Given the description of an element on the screen output the (x, y) to click on. 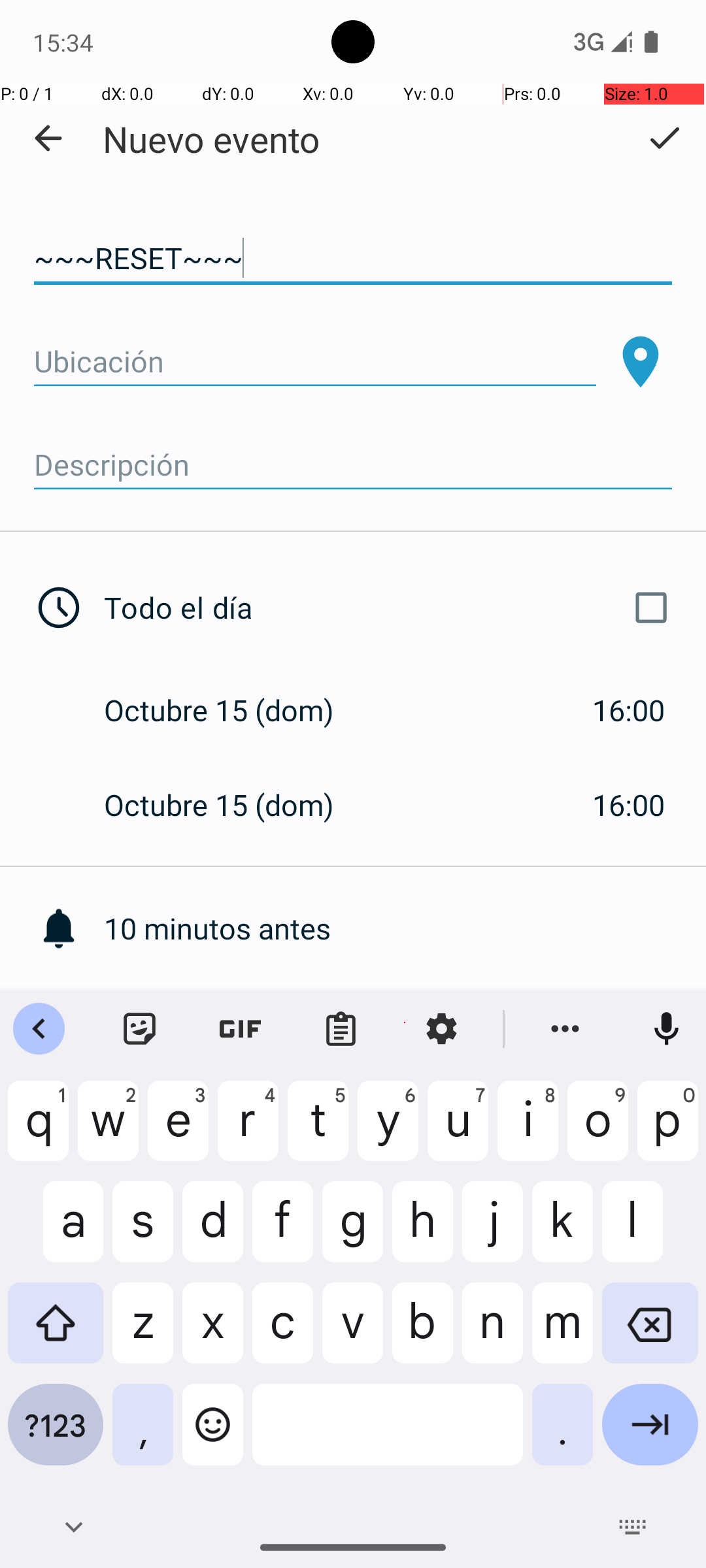
Guardar Element type: android.widget.Button (664, 137)
Ubicación Element type: android.widget.EditText (314, 361)
Descripción Element type: android.widget.EditText (352, 465)
Octubre 15 (dom) Element type: android.widget.TextView (232, 709)
16:00 Element type: android.widget.TextView (628, 709)
10 minutos antes Element type: android.widget.TextView (404, 927)
Agregar otro recordatorio Element type: android.widget.TextView (404, 1022)
Todo el día Element type: android.widget.CheckBox (390, 607)
